Given the description of an element on the screen output the (x, y) to click on. 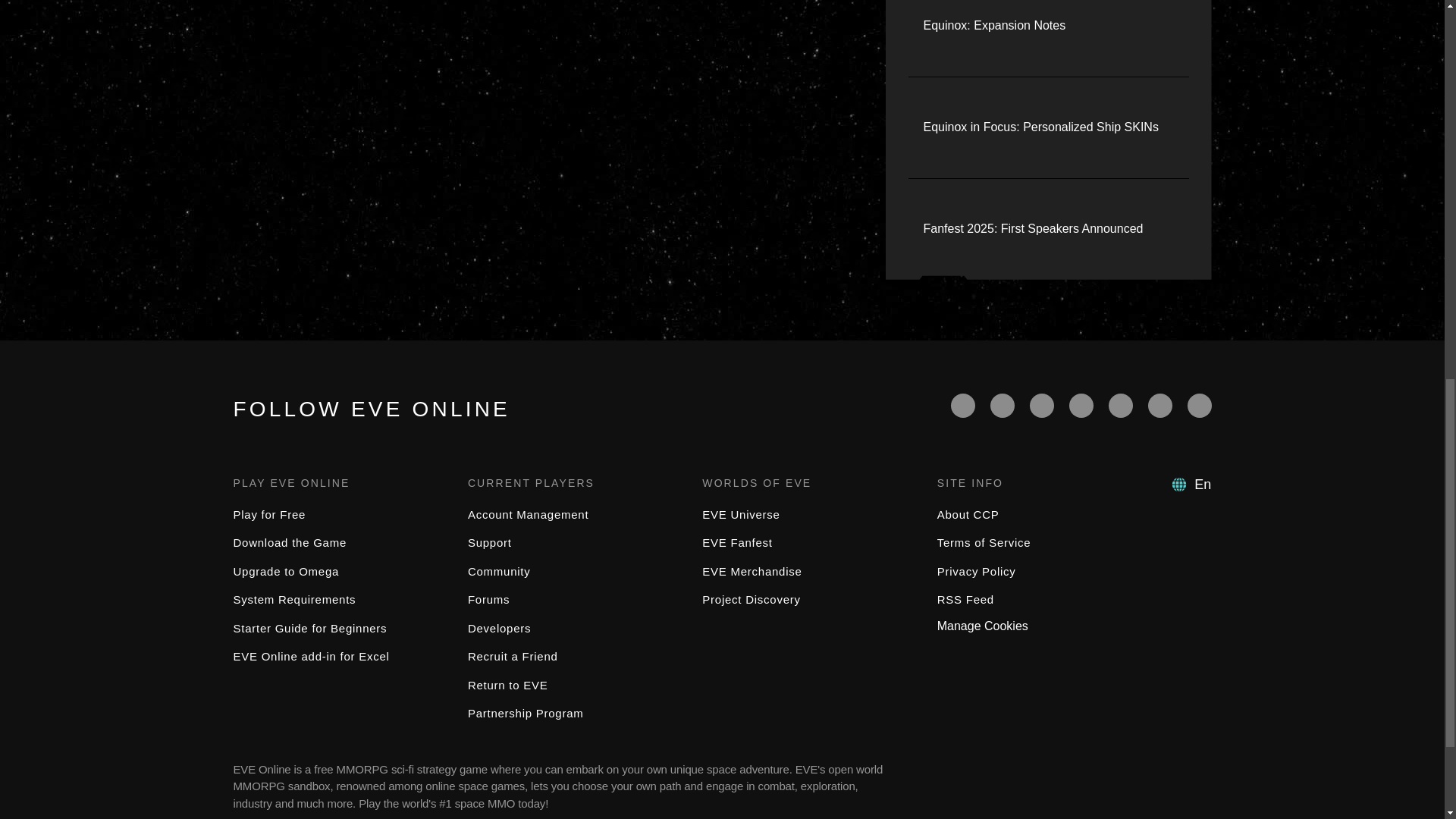
Twitter (1002, 405)
Discord (1120, 405)
Upgrade to Omega (285, 571)
Equinox in Focus: Personalized Ship SKINs (1040, 126)
Forums (488, 599)
EVE Online add-in for Excel (311, 656)
Fanfest 2025: First Speakers Announced (1032, 229)
Community (499, 571)
Developers (499, 627)
Twitch (1080, 405)
